Given the description of an element on the screen output the (x, y) to click on. 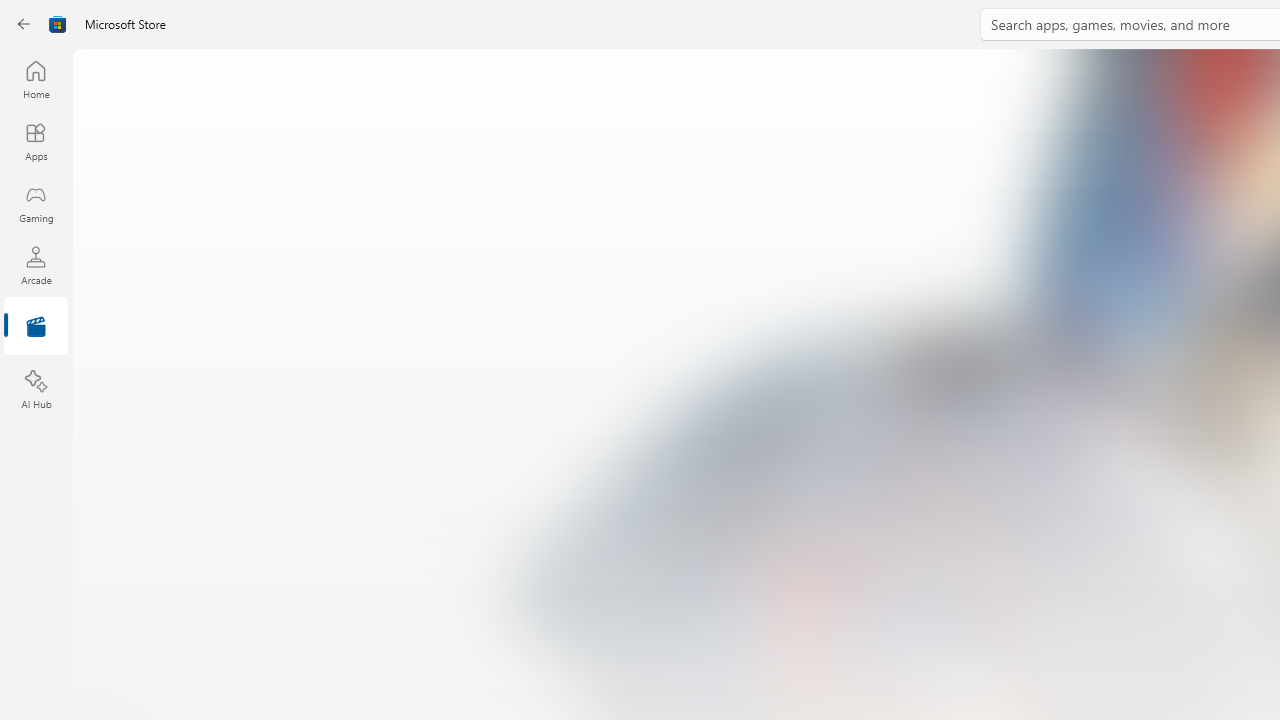
Back (24, 24)
